Given the description of an element on the screen output the (x, y) to click on. 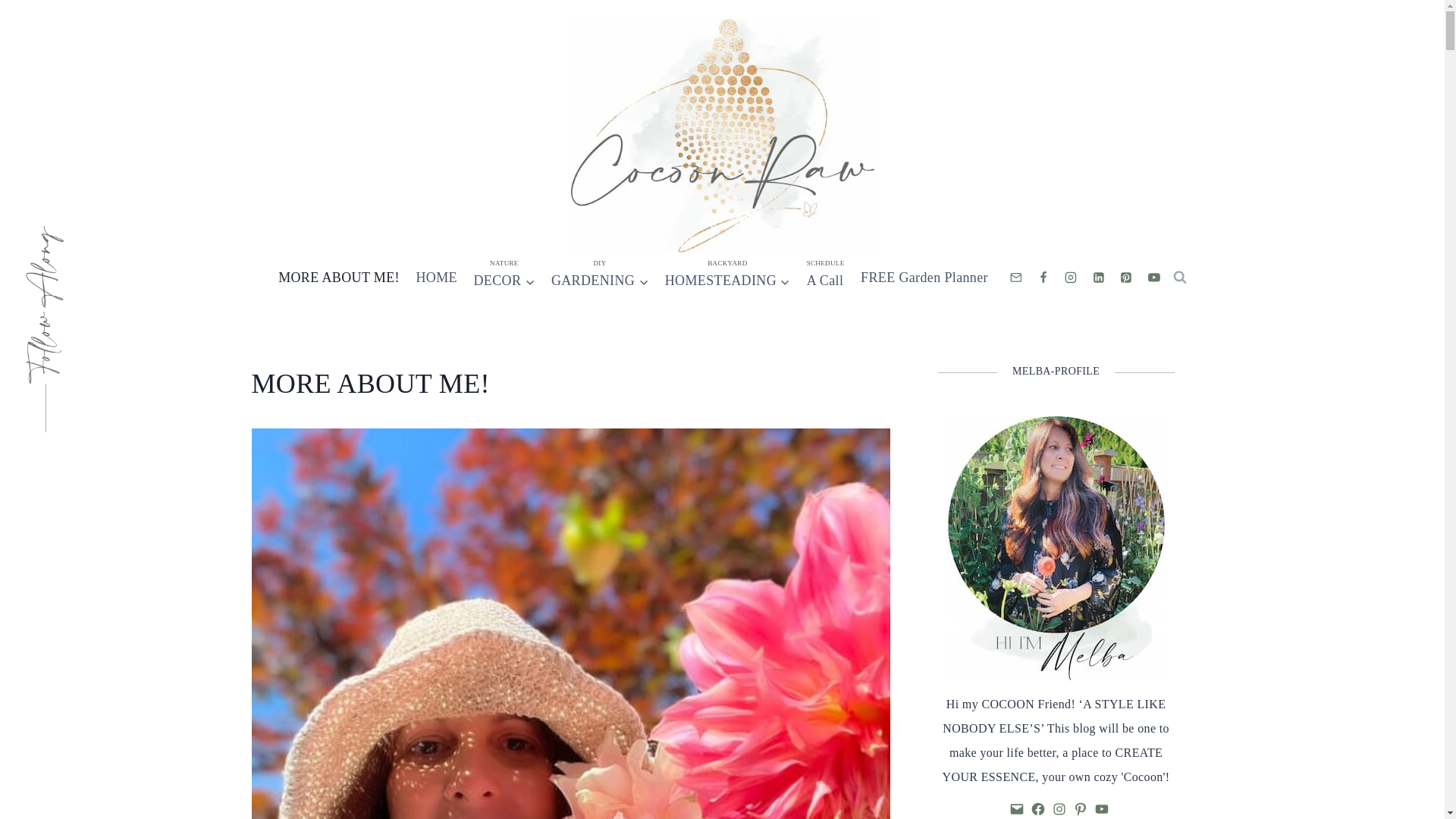
FREE Garden Planner (923, 277)
DIY (599, 277)
MORE ABOUT ME! (338, 277)
Schedule (824, 277)
Backyard (726, 277)
GARDENING (599, 277)
HOMESTEADING (726, 277)
DECOR (504, 277)
HOME (436, 277)
A Call (824, 277)
Nature (504, 277)
